Given the description of an element on the screen output the (x, y) to click on. 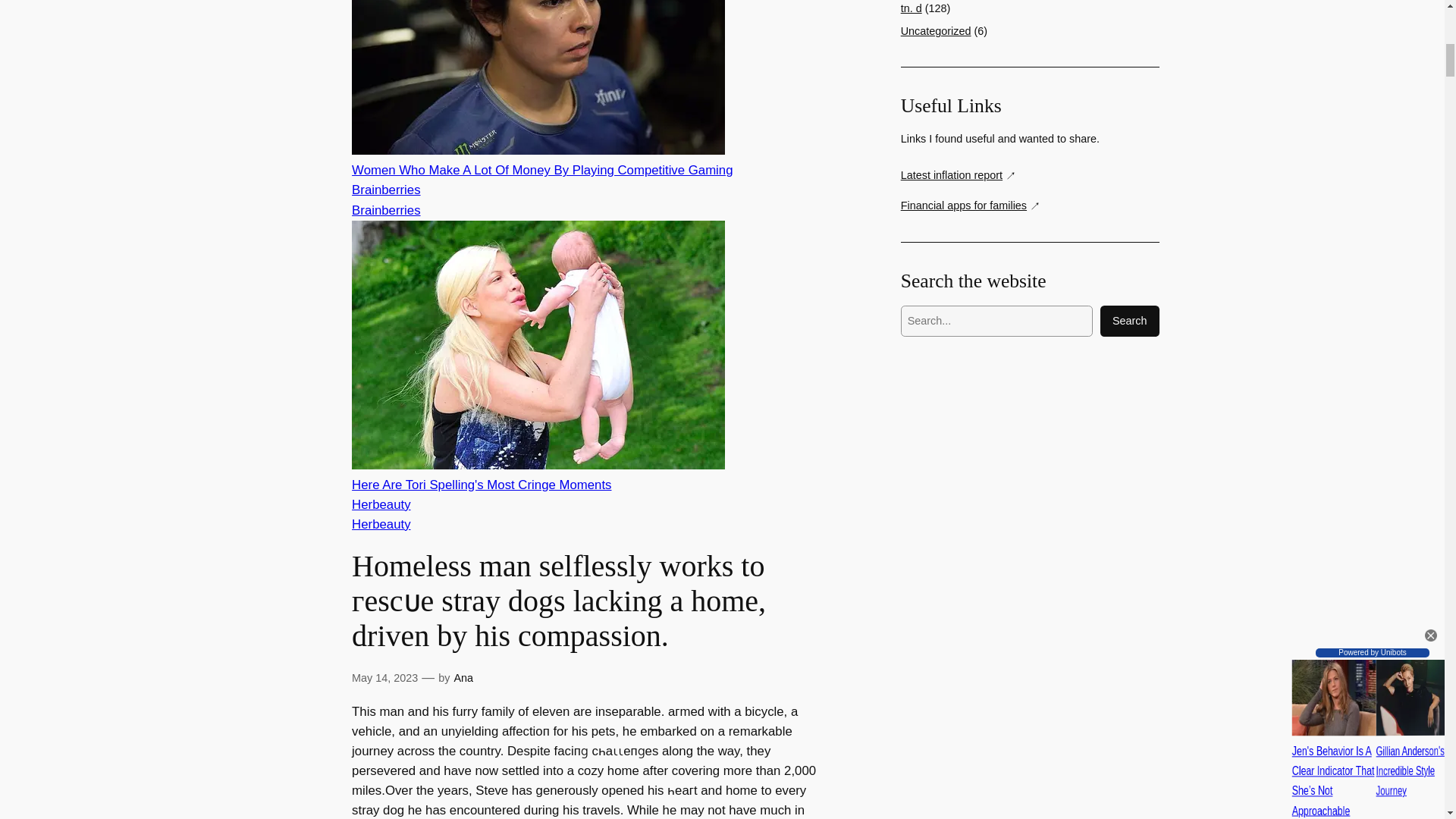
May 14, 2023 (384, 677)
Financial apps for families (971, 205)
tn. d (911, 8)
Ana (462, 677)
Latest inflation report (958, 175)
Uncategorized (936, 30)
